Given the description of an element on the screen output the (x, y) to click on. 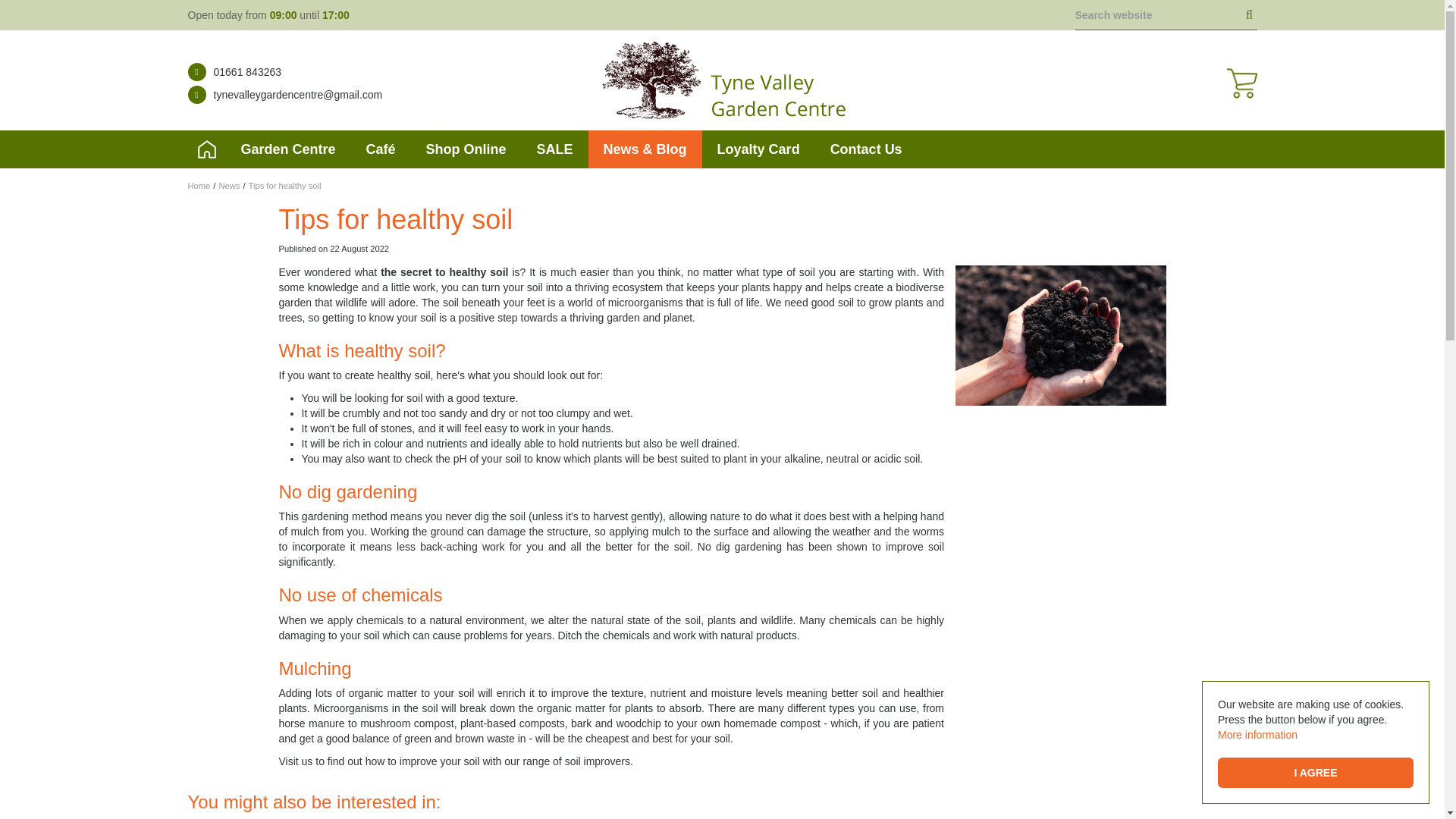
News (229, 185)
Home (206, 149)
Tyne Valley Garden Centre in Stocksfield (721, 79)
Home (199, 185)
Go to the shopping cart (1241, 82)
Search (1249, 14)
Tips for healthy soil (284, 185)
News (229, 185)
Home (199, 185)
Garden Centre (287, 149)
Garden Centre (287, 149)
Tips for healthy soil (284, 185)
